Given the description of an element on the screen output the (x, y) to click on. 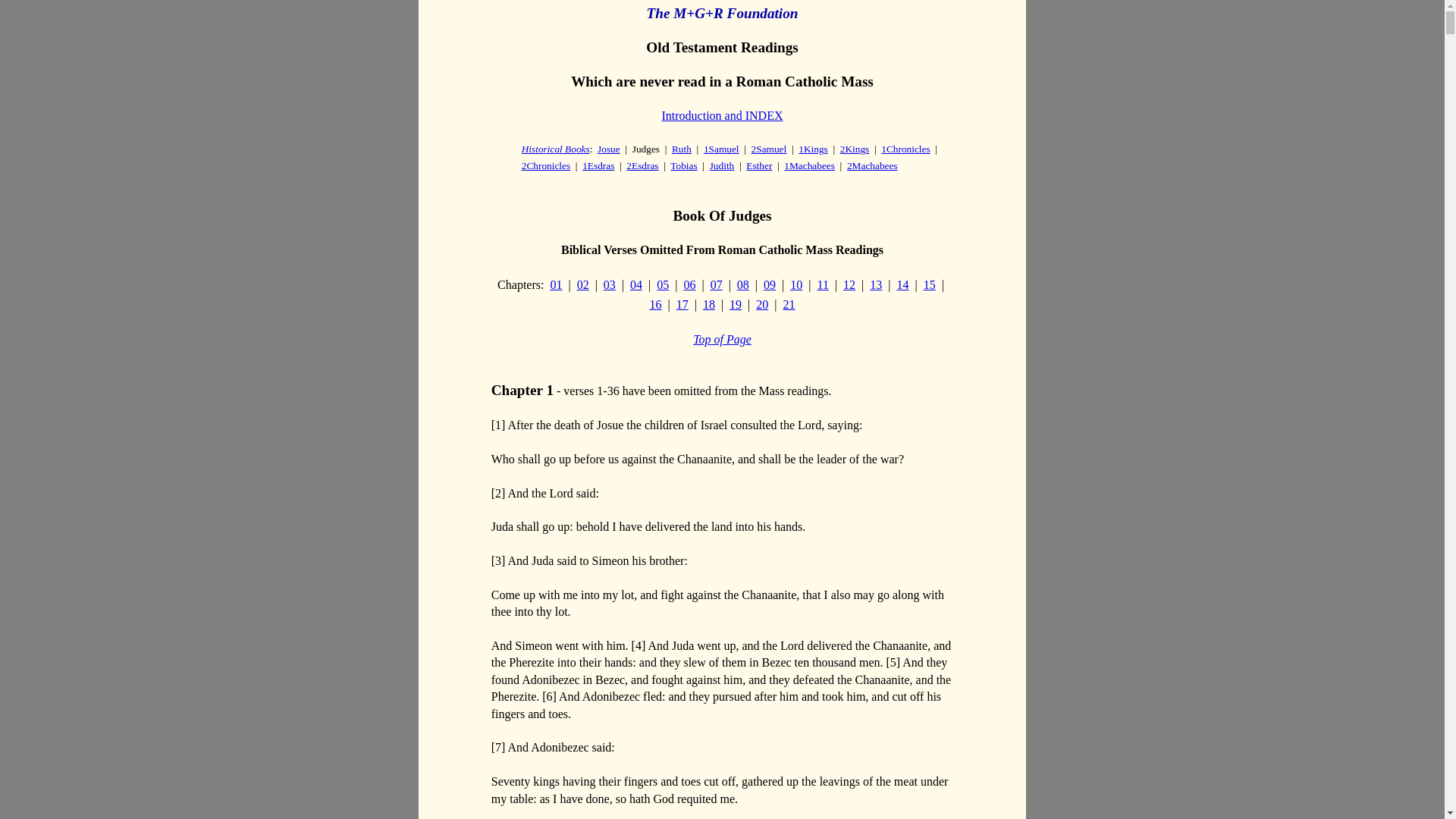
02 (582, 284)
2Machabees (872, 165)
1Machabees (809, 165)
1Chronicles (905, 148)
15 (929, 284)
2Samuel (769, 148)
05 (662, 284)
01 (556, 284)
19 (735, 304)
18 (708, 304)
Tobias (683, 165)
Historical Books (555, 148)
06 (688, 284)
Josue (608, 148)
16 (655, 304)
